Given the description of an element on the screen output the (x, y) to click on. 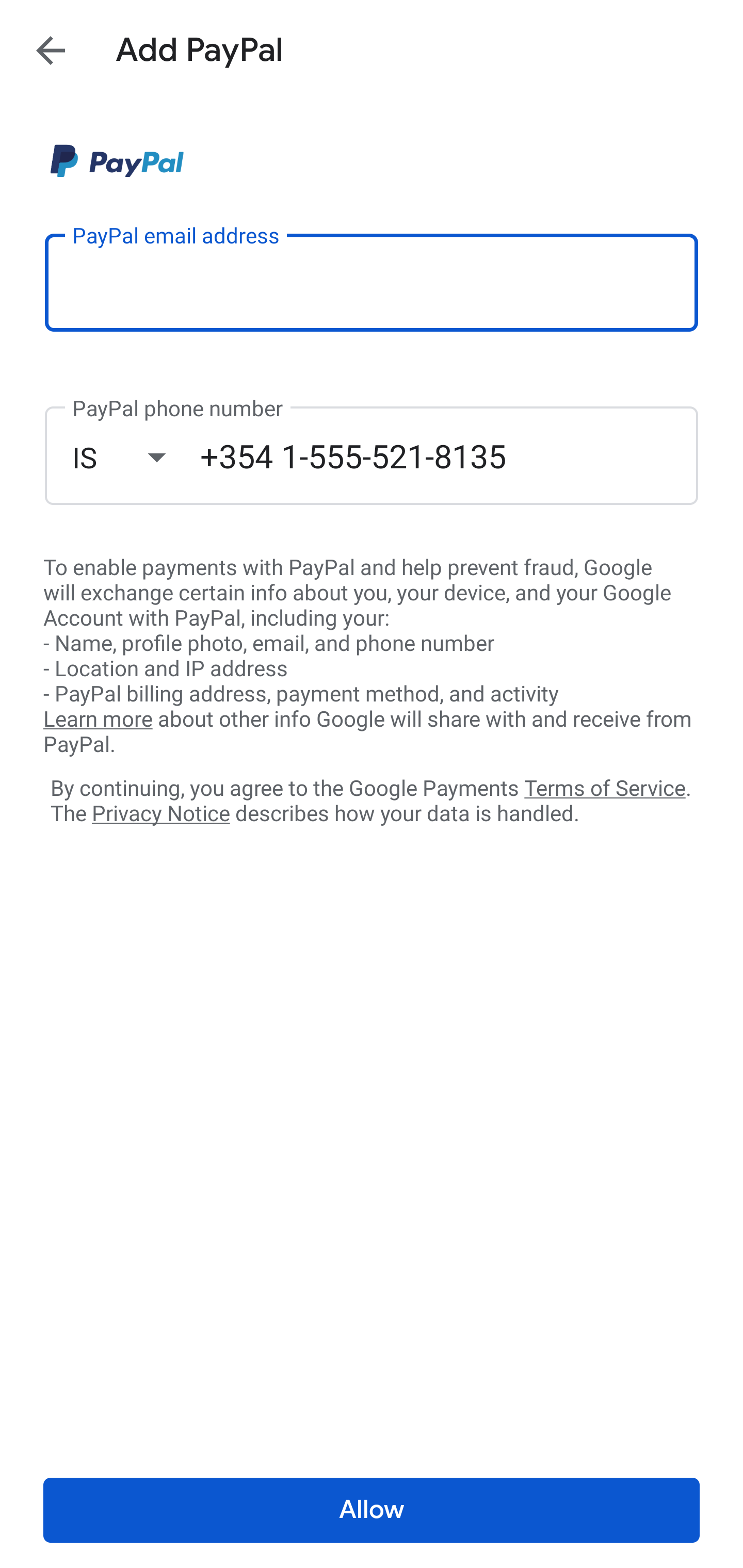
Navigate up (50, 50)
PayPal email address (371, 282)
IS (135, 456)
Learn more (97, 719)
Terms of Service (604, 787)
Privacy Notice (160, 814)
Allow (371, 1510)
